Given the description of an element on the screen output the (x, y) to click on. 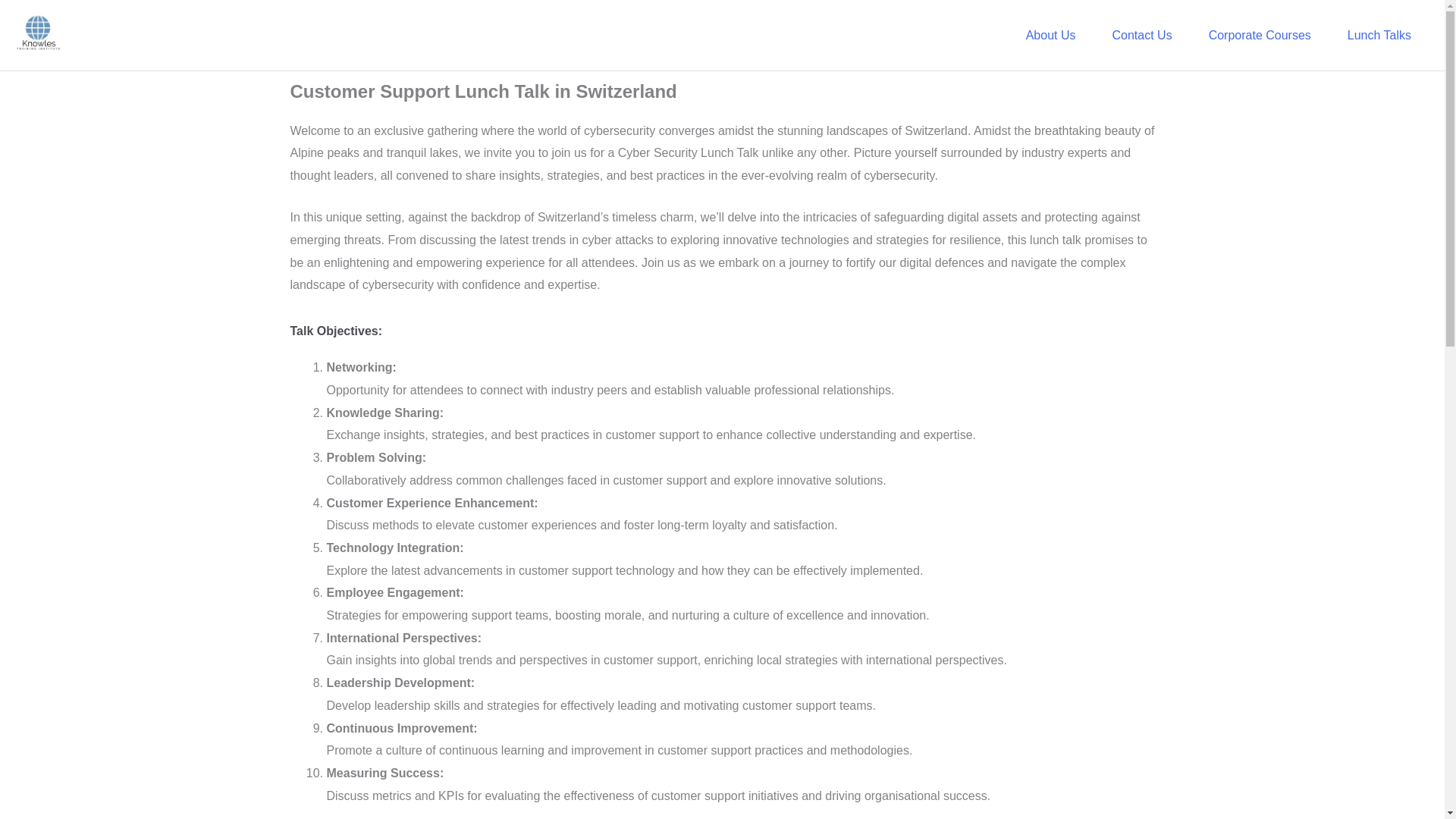
Lunch Talks (1379, 34)
Contact Us (1141, 34)
Corporate Courses (1260, 34)
About Us (1050, 34)
